Given the description of an element on the screen output the (x, y) to click on. 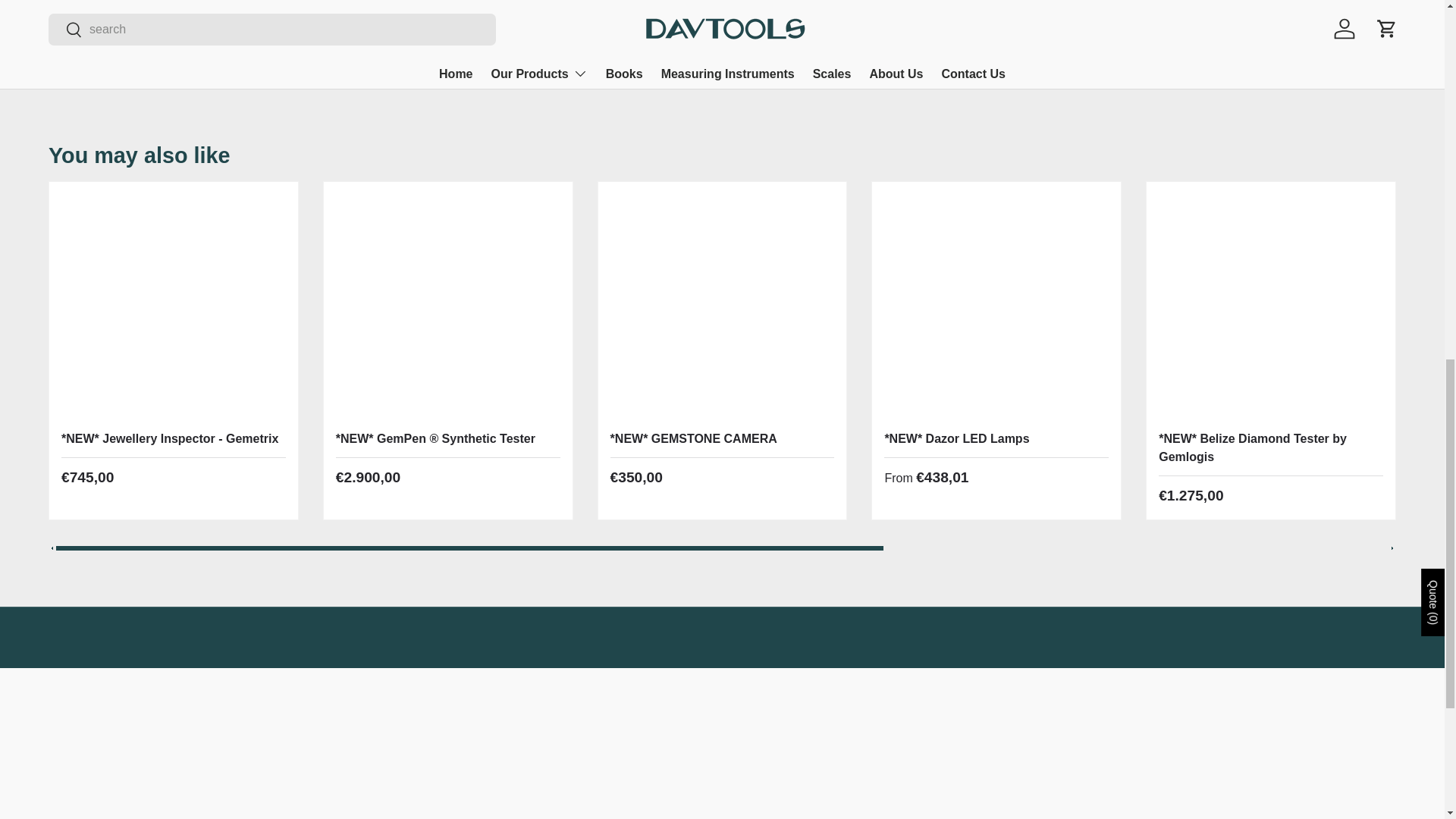
Pin on Pinterest (925, 22)
Tweet on X (858, 22)
Share on Facebook (891, 22)
